Given the description of an element on the screen output the (x, y) to click on. 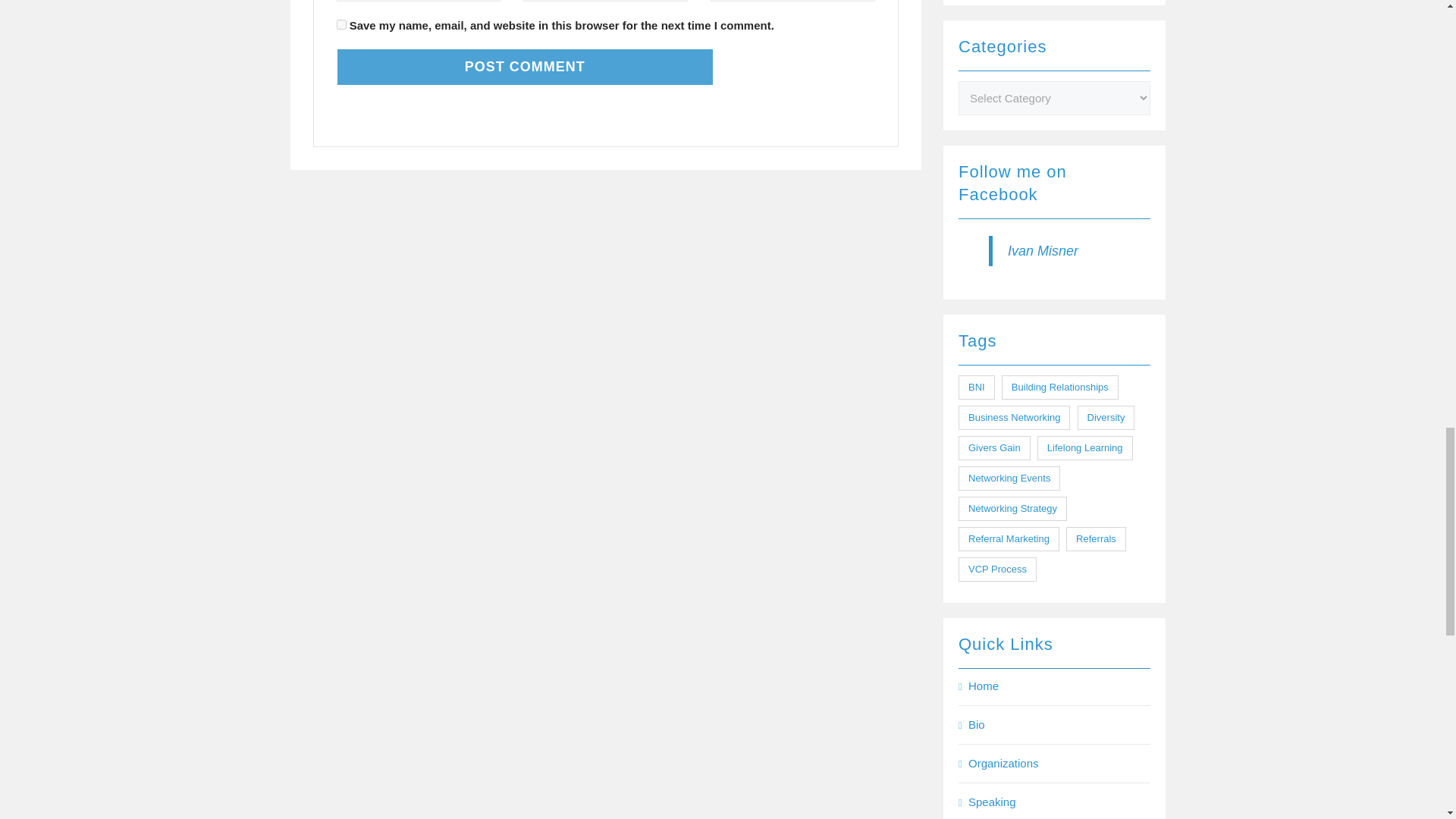
Business Networking (1014, 417)
Lifelong Learning (1084, 447)
Building Relationships (1059, 387)
Post Comment (524, 66)
Ivan Misner (1042, 250)
Givers Gain (994, 447)
Networking Events (1008, 478)
BNI (976, 387)
Networking Strategy (1012, 508)
Diversity (1106, 417)
